Given the description of an element on the screen output the (x, y) to click on. 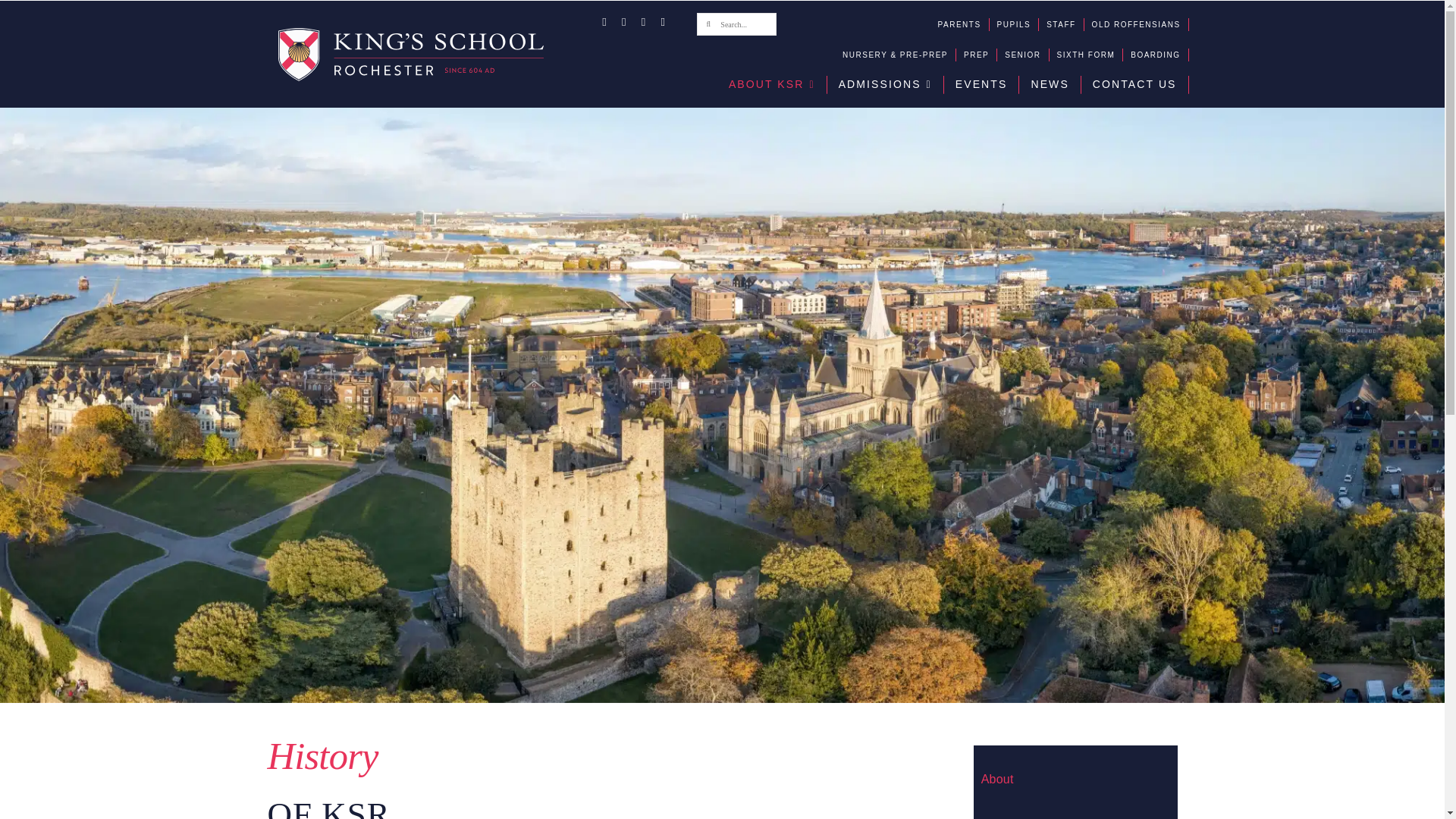
SENIOR (1026, 54)
SIXTH FORM (1090, 54)
STAFF (1064, 24)
PUPILS (1018, 24)
ADMISSIONS (888, 85)
PARENTS (963, 24)
PREP (980, 54)
BOARDING (1159, 54)
ABOUT KSR (776, 85)
OLD ROFFENSIANS (1140, 24)
